Given the description of an element on the screen output the (x, y) to click on. 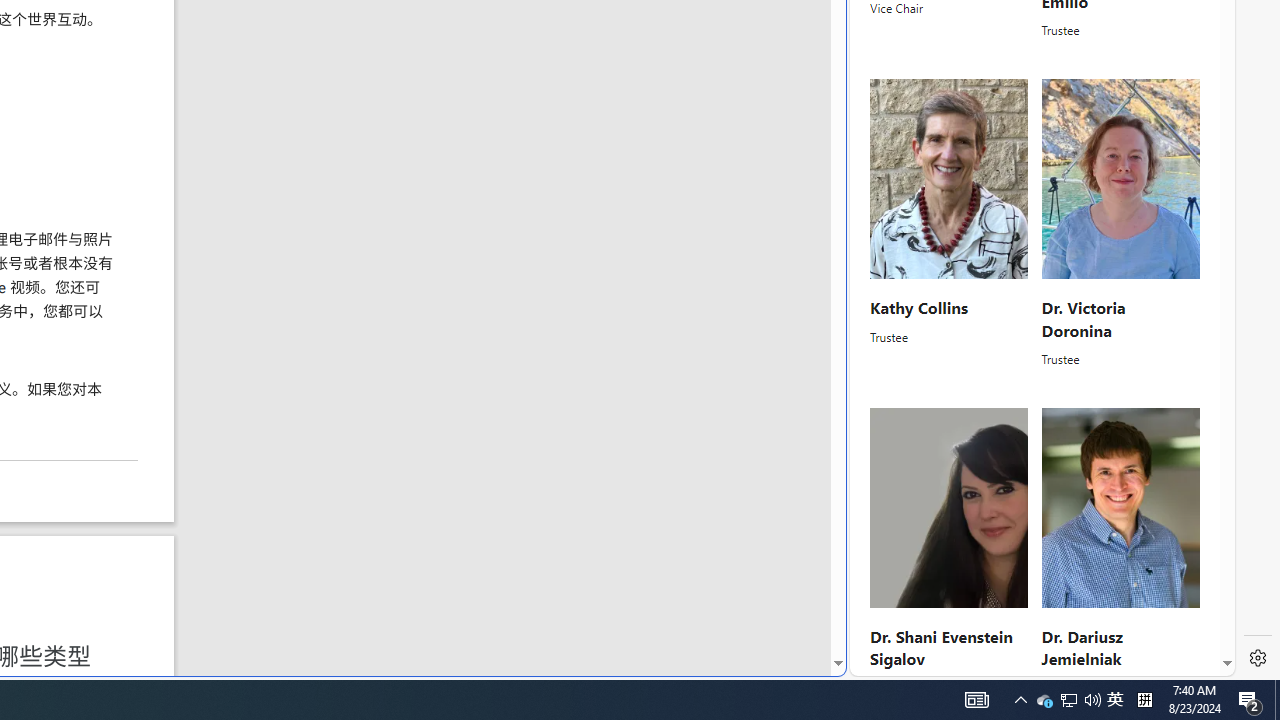
Shani Evenstein (949, 508)
Dr. Victoria Doronina (1082, 318)
Victoria Doronina in 2021 (1120, 179)
Kathy Collins (918, 307)
Dr. Dariusz JemielniakTrustee (1120, 552)
Dr. Shani Evenstein Sigalov (940, 647)
